Given the description of an element on the screen output the (x, y) to click on. 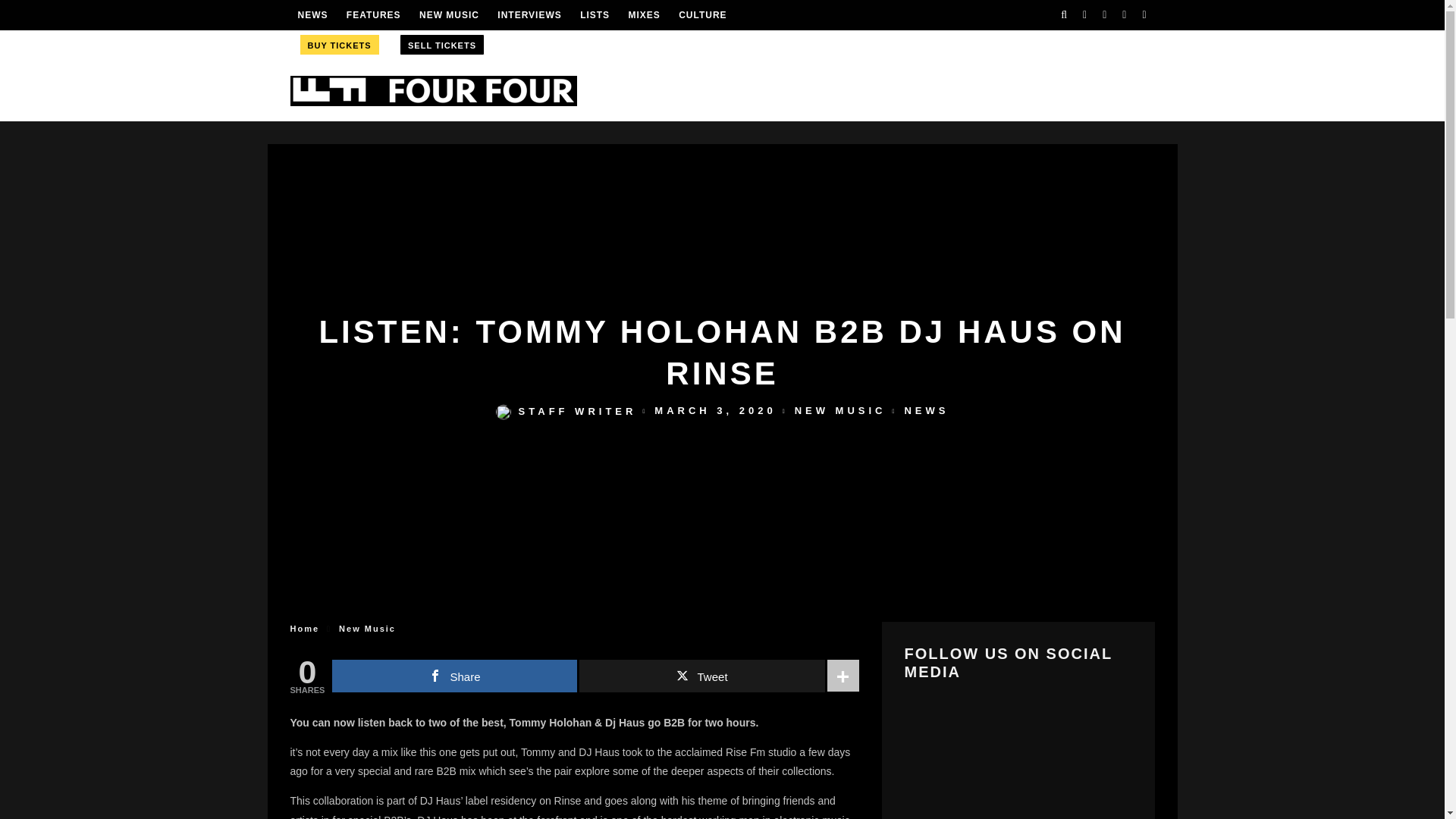
STAFF WRITER (566, 410)
CULTURE (702, 15)
Home (303, 628)
NEW MUSIC (840, 410)
MIXES (643, 15)
View all posts in News (926, 410)
NEWS (312, 15)
LISTS (594, 15)
NEWS (926, 410)
View all posts in New Music (367, 628)
